Given the description of an element on the screen output the (x, y) to click on. 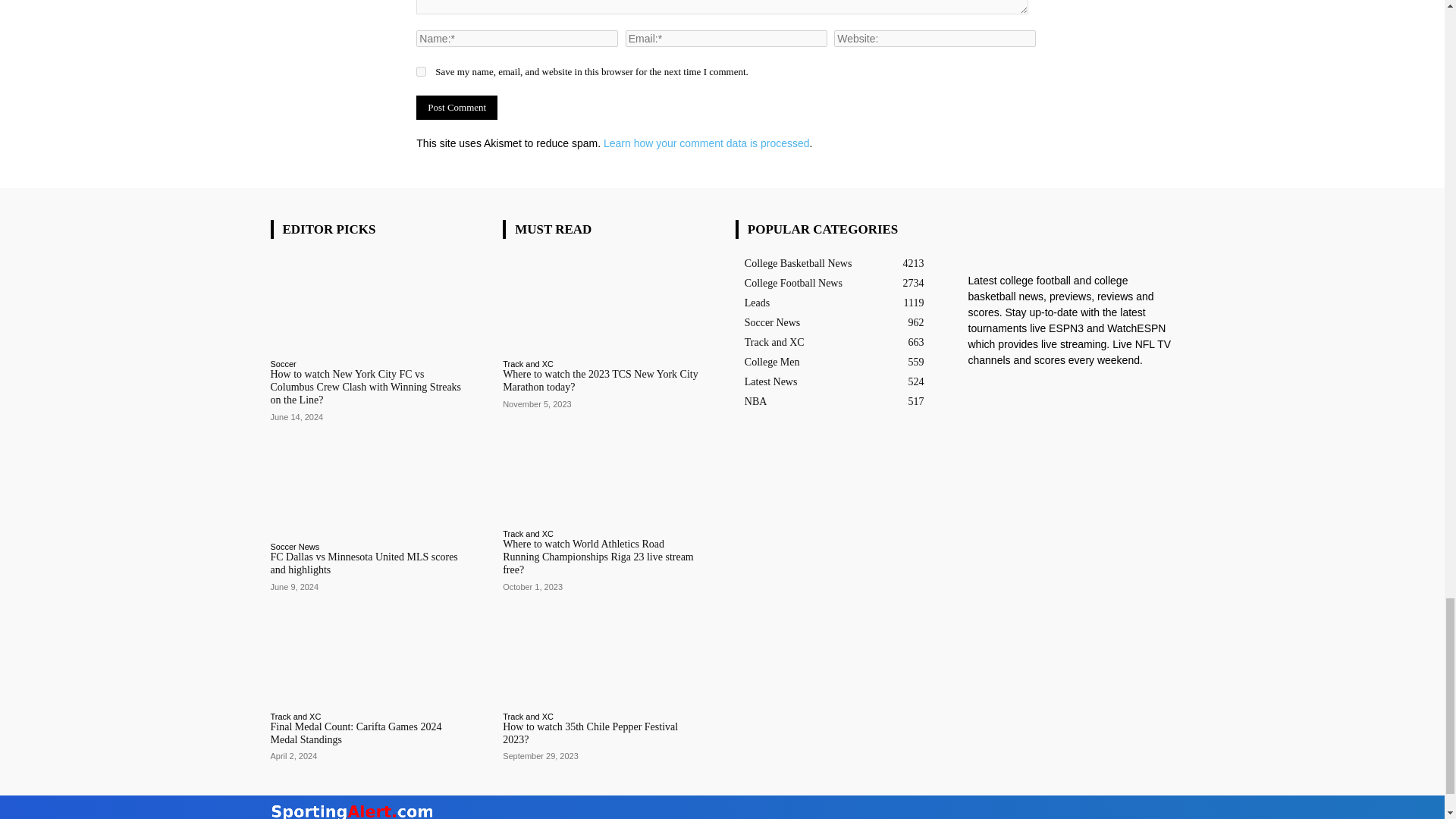
yes (421, 71)
Post Comment (456, 107)
